Given the description of an element on the screen output the (x, y) to click on. 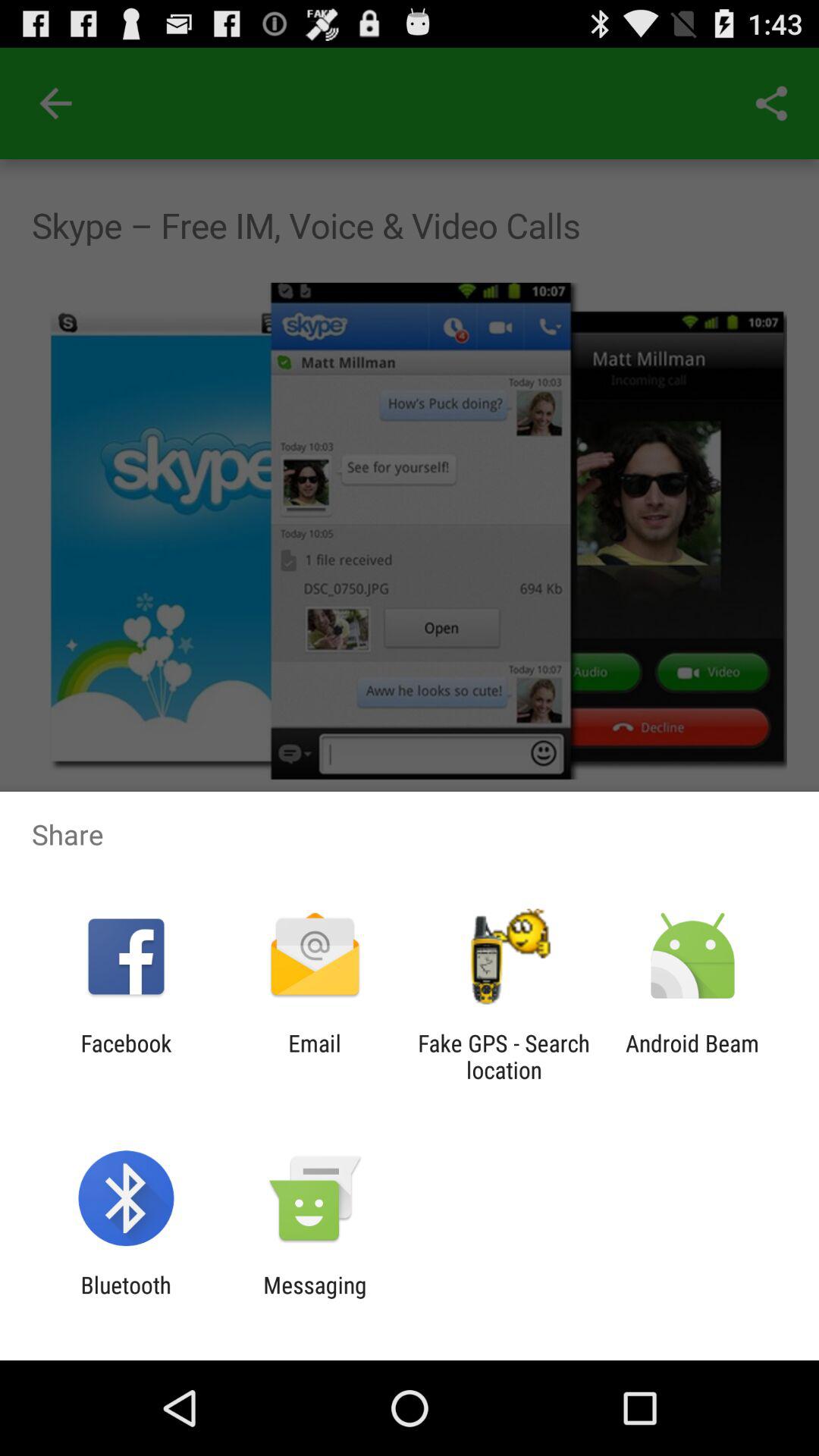
turn off the icon to the left of android beam app (503, 1056)
